Given the description of an element on the screen output the (x, y) to click on. 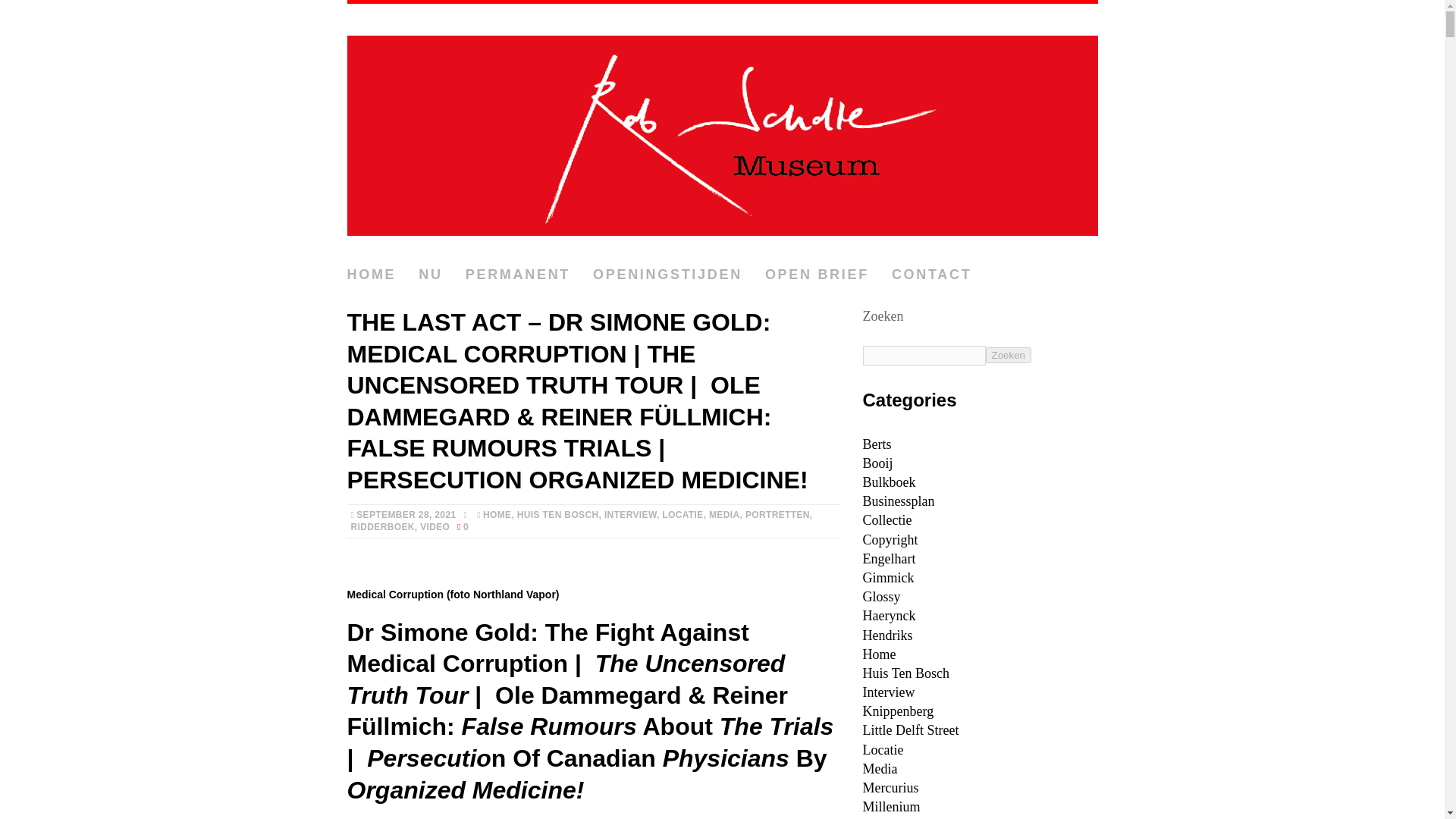
INTERVIEW (630, 514)
OPEN BRIEF (817, 274)
MEDIA (724, 514)
HOME (371, 274)
PORTRETTEN (777, 514)
HOME (497, 514)
LOCATIE (682, 514)
OPENINGSTIJDEN (667, 274)
PERMANENT (517, 274)
CONTACT (931, 274)
HUIS TEN BOSCH (557, 514)
RIDDERBOEK (381, 526)
VIDEO (434, 526)
